Given the description of an element on the screen output the (x, y) to click on. 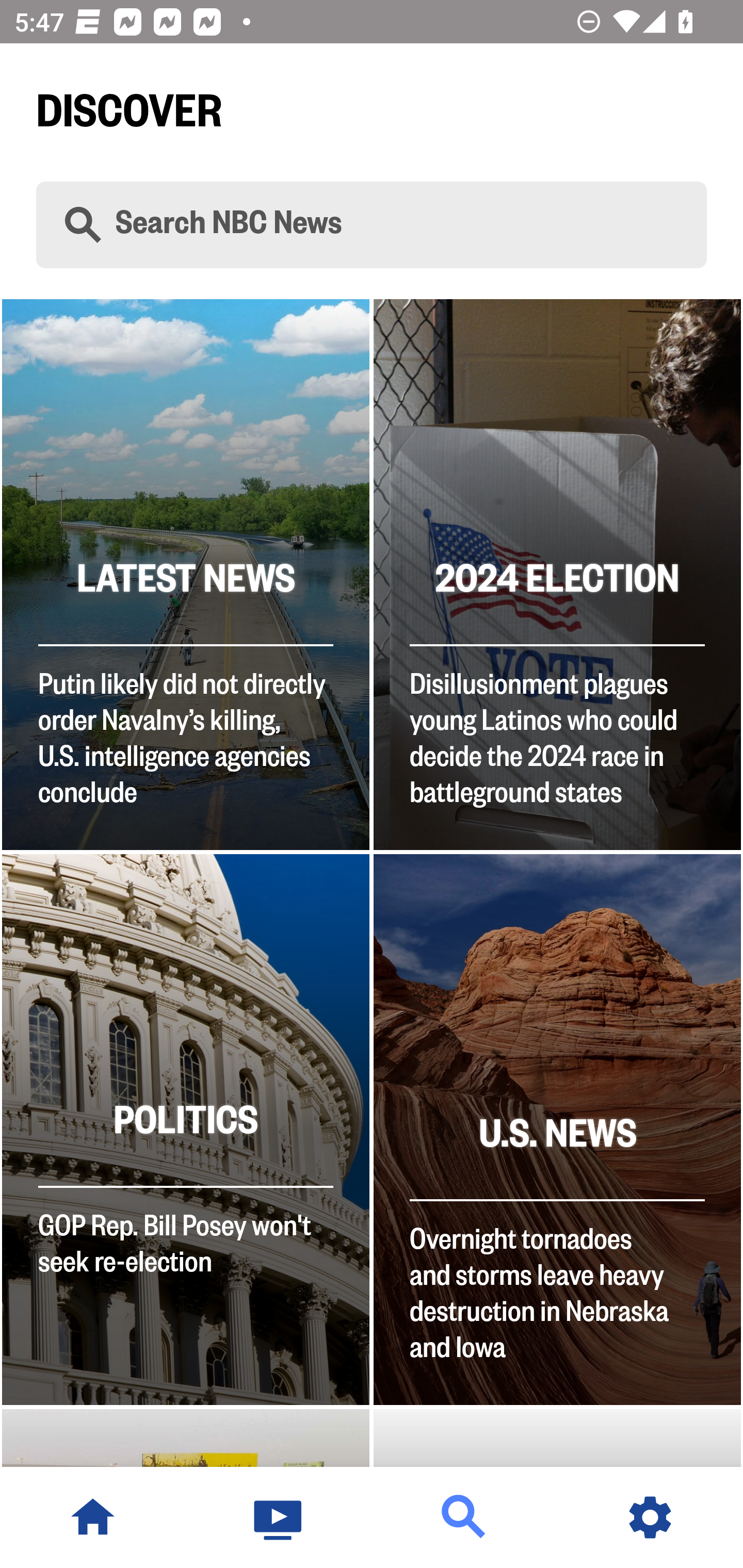
NBC News Home (92, 1517)
Watch (278, 1517)
Settings (650, 1517)
